Given the description of an element on the screen output the (x, y) to click on. 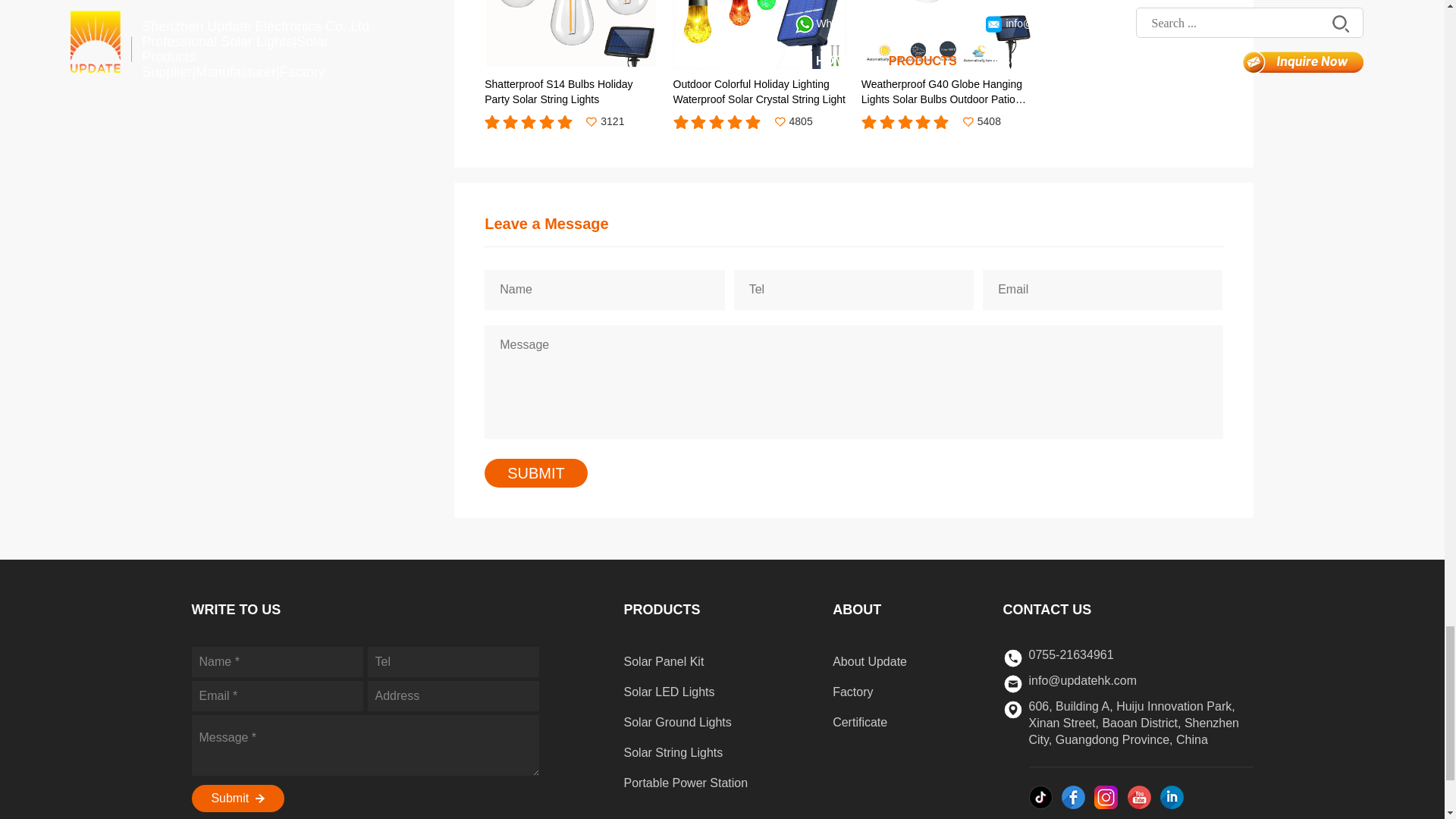
SUBMIT (536, 473)
Shatterproof S14 Bulbs Holiday Party Solar String Lights (571, 53)
SUBMIT (536, 473)
Shatterproof S14 Bulbs Holiday Party Solar String Lights (571, 53)
